Given the description of an element on the screen output the (x, y) to click on. 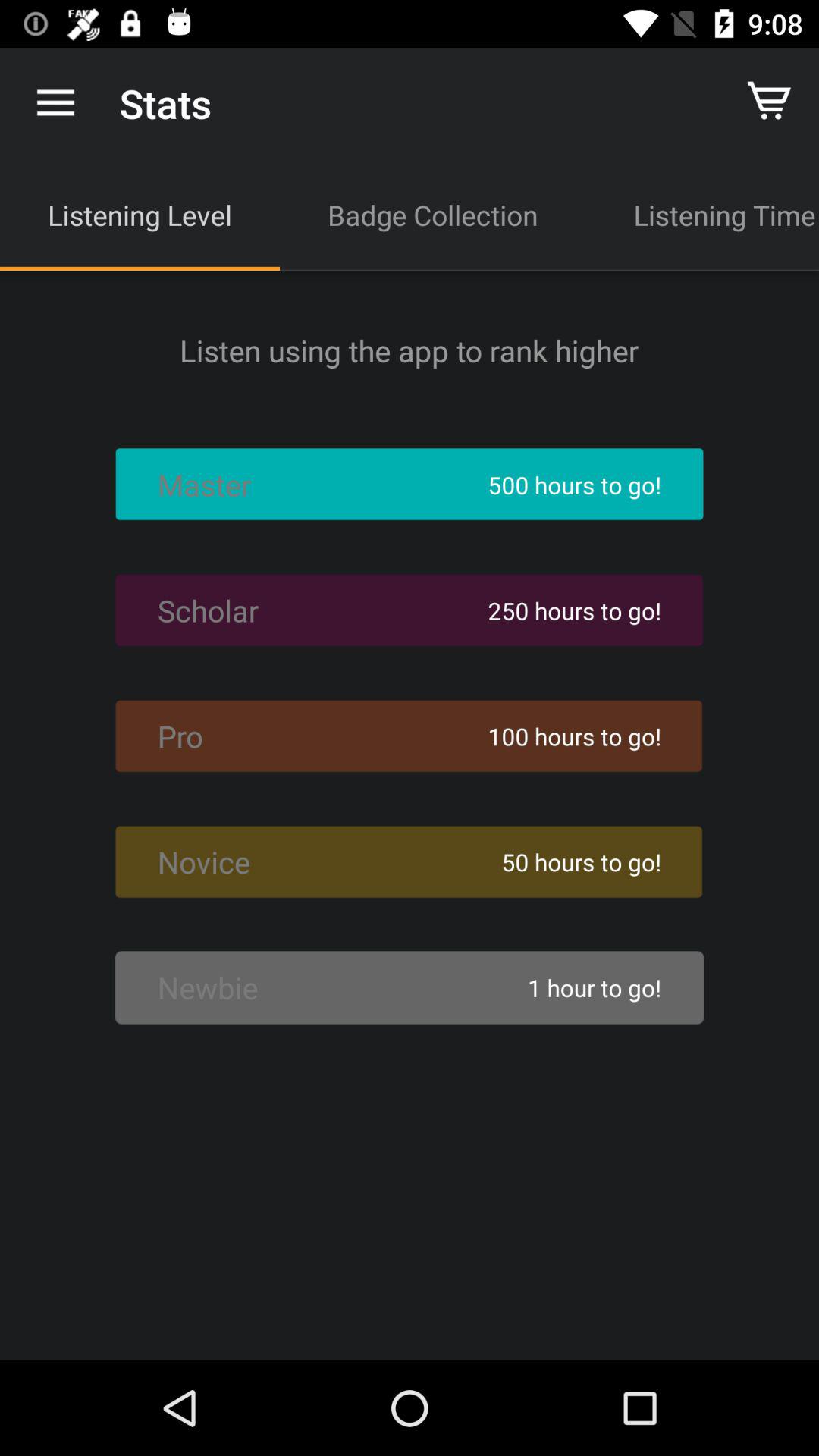
launch item above listen using the item (702, 214)
